Given the description of an element on the screen output the (x, y) to click on. 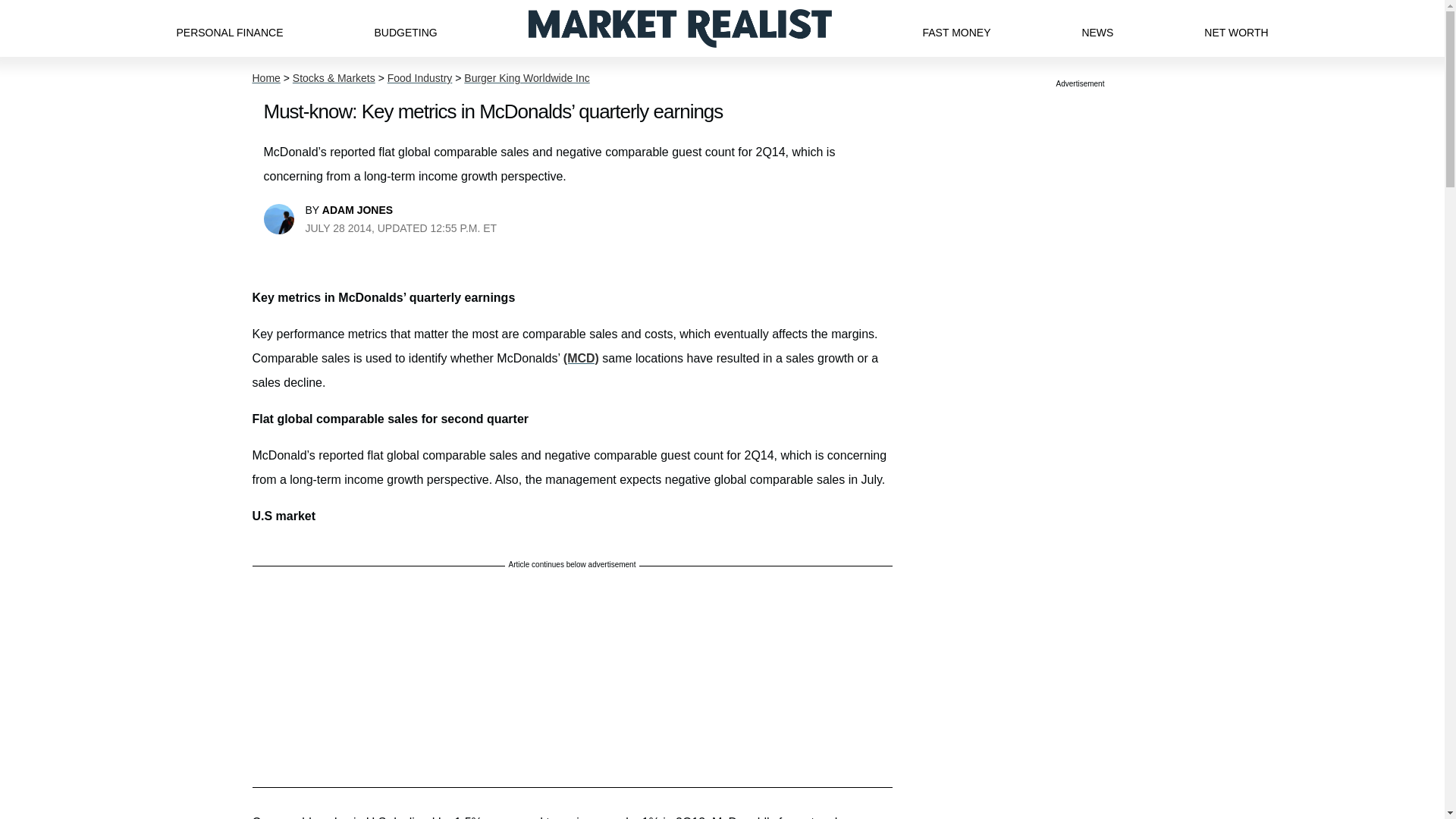
BUDGETING (405, 27)
Food Industry (419, 78)
Home (265, 78)
NEWS (1097, 27)
NET WORTH (1236, 27)
PERSONAL FINANCE (229, 27)
ADAM JONES (357, 209)
Burger King Worldwide Inc (526, 78)
FAST MONEY (955, 27)
